Given the description of an element on the screen output the (x, y) to click on. 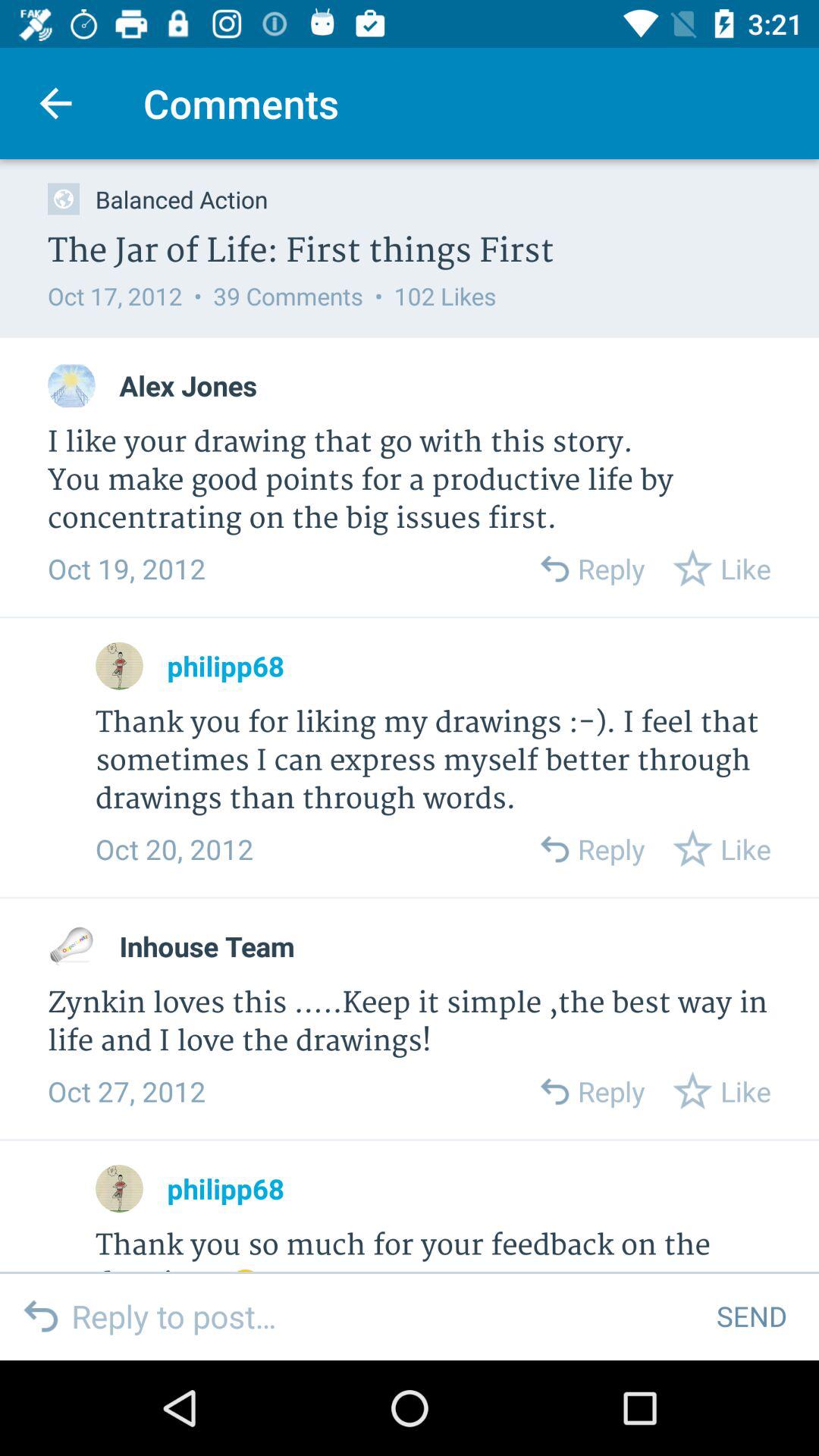
go to philipp68 's profile (119, 665)
